Given the description of an element on the screen output the (x, y) to click on. 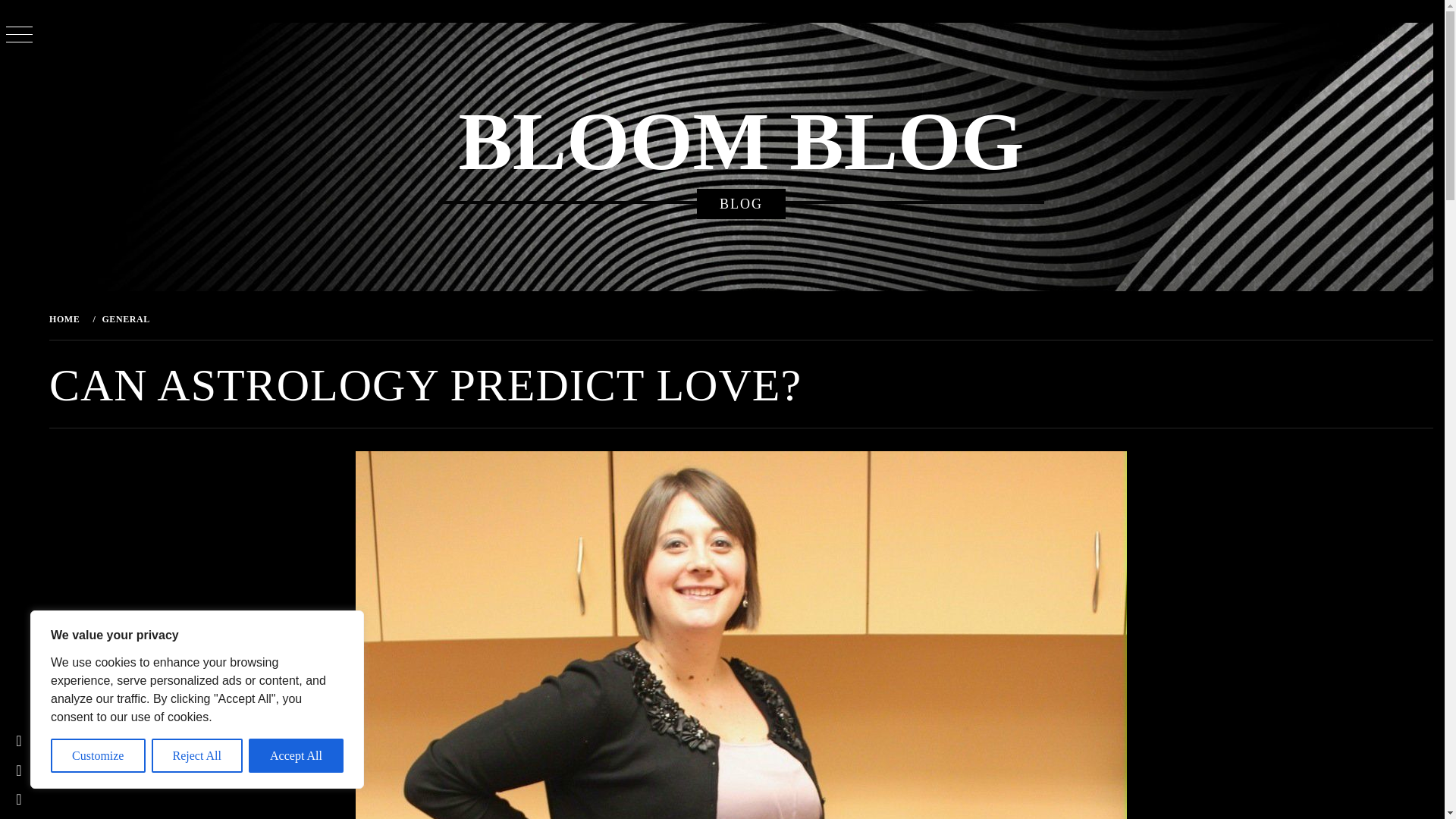
Accept All (295, 755)
CAN ASTROLOGY PREDICT LOVE? (254, 318)
BLOOM BLOG (740, 141)
Reject All (197, 755)
GENERAL (124, 318)
HOME (66, 318)
Customize (97, 755)
